Given the description of an element on the screen output the (x, y) to click on. 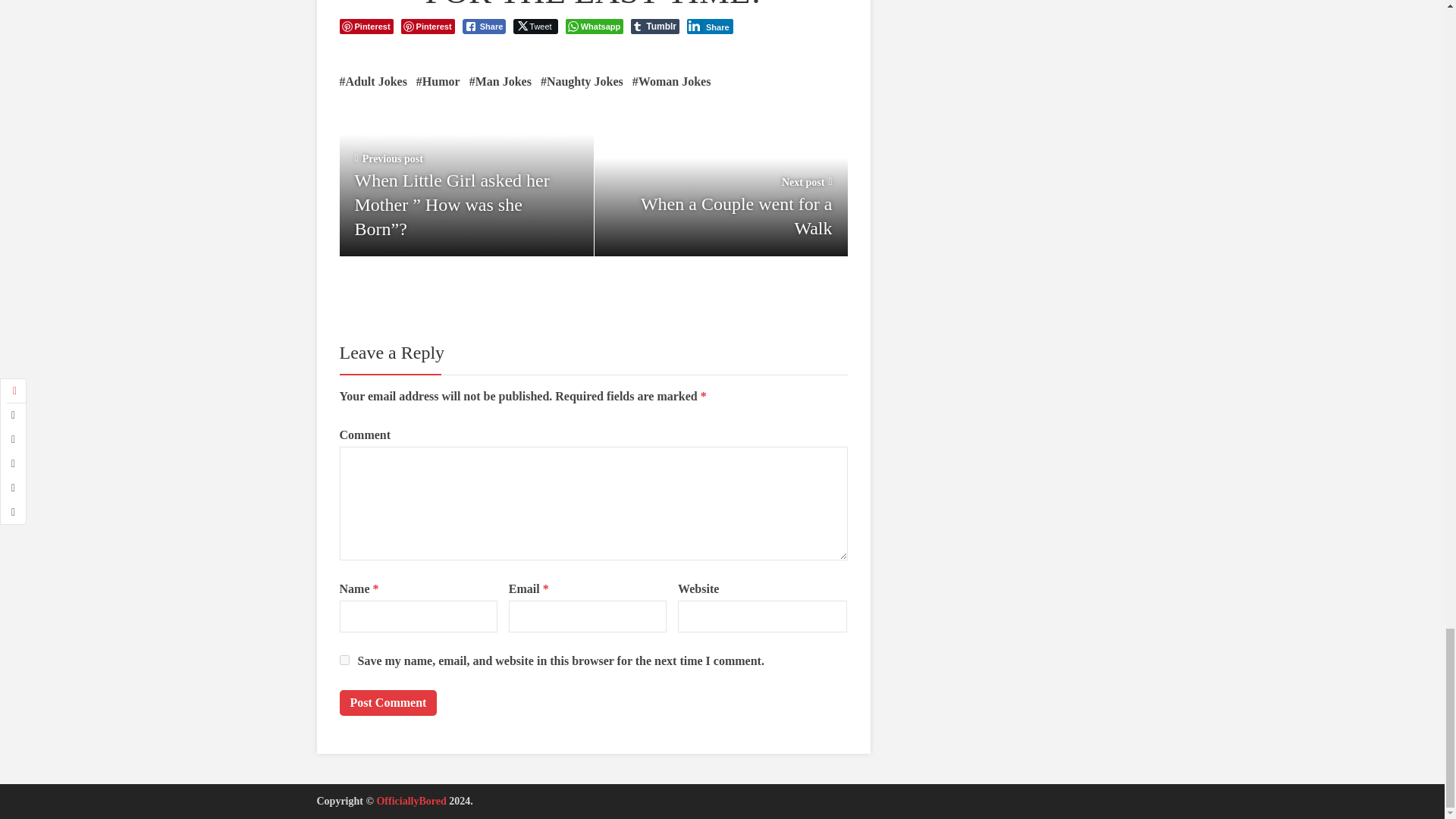
Pinterest (366, 26)
Post Comment (388, 702)
Adult Jokes (720, 189)
yes (373, 81)
Man Jokes (344, 660)
Woman Jokes (499, 81)
Post Comment (671, 81)
Tweet (388, 702)
Share (535, 26)
